Given the description of an element on the screen output the (x, y) to click on. 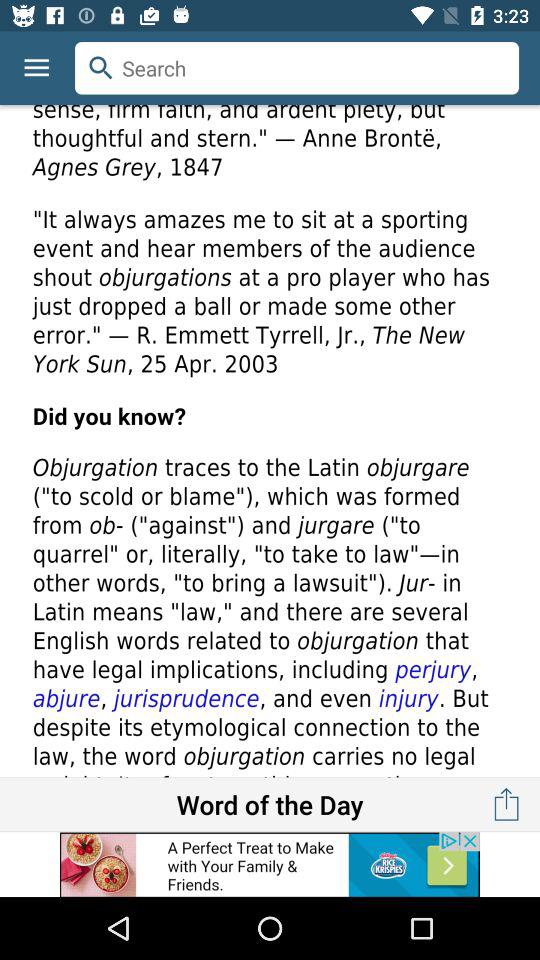
advertisement page (270, 441)
